Given the description of an element on the screen output the (x, y) to click on. 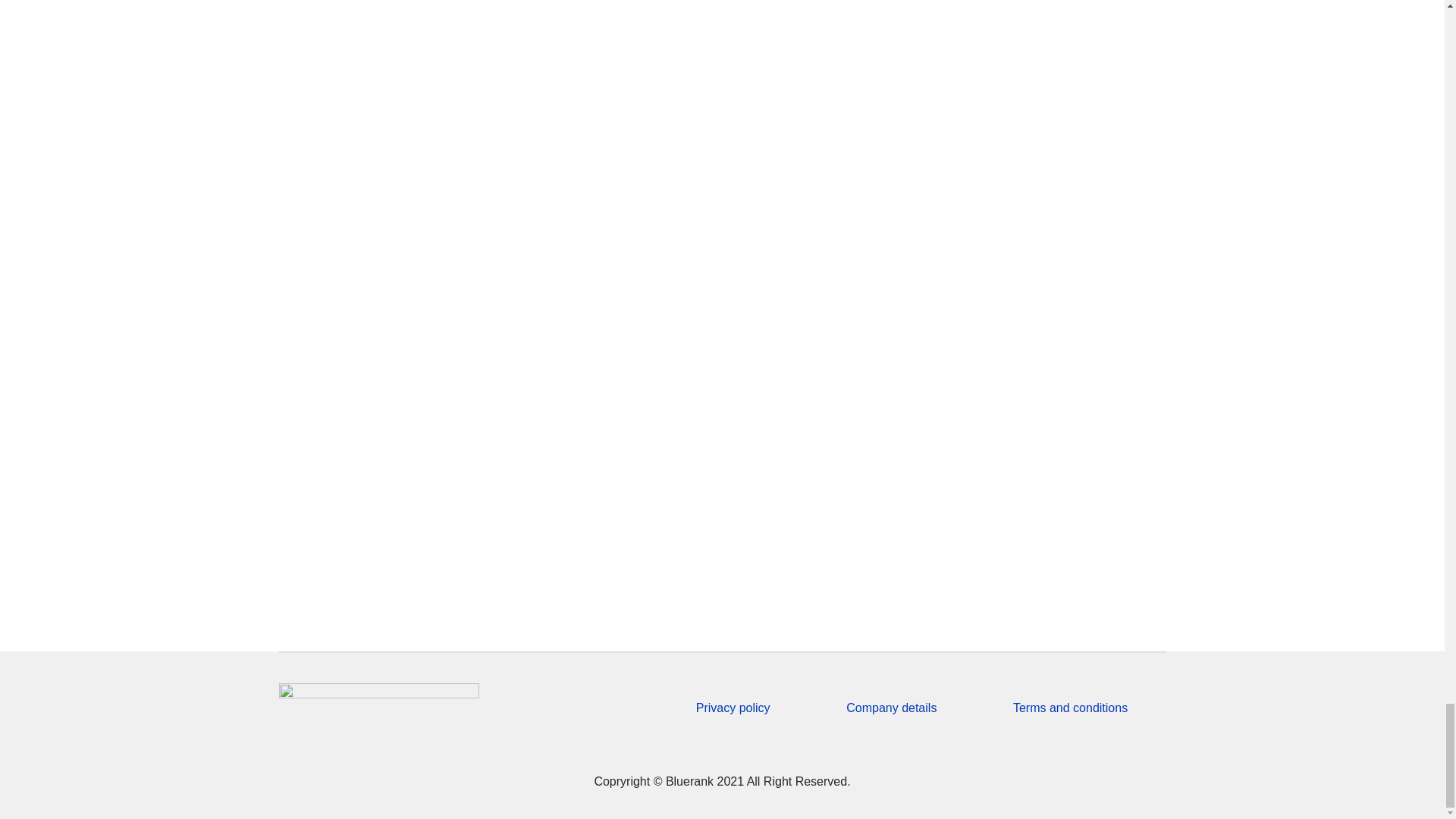
Company details (890, 707)
Privacy policy (732, 707)
Terms and conditions (1069, 707)
